Given the description of an element on the screen output the (x, y) to click on. 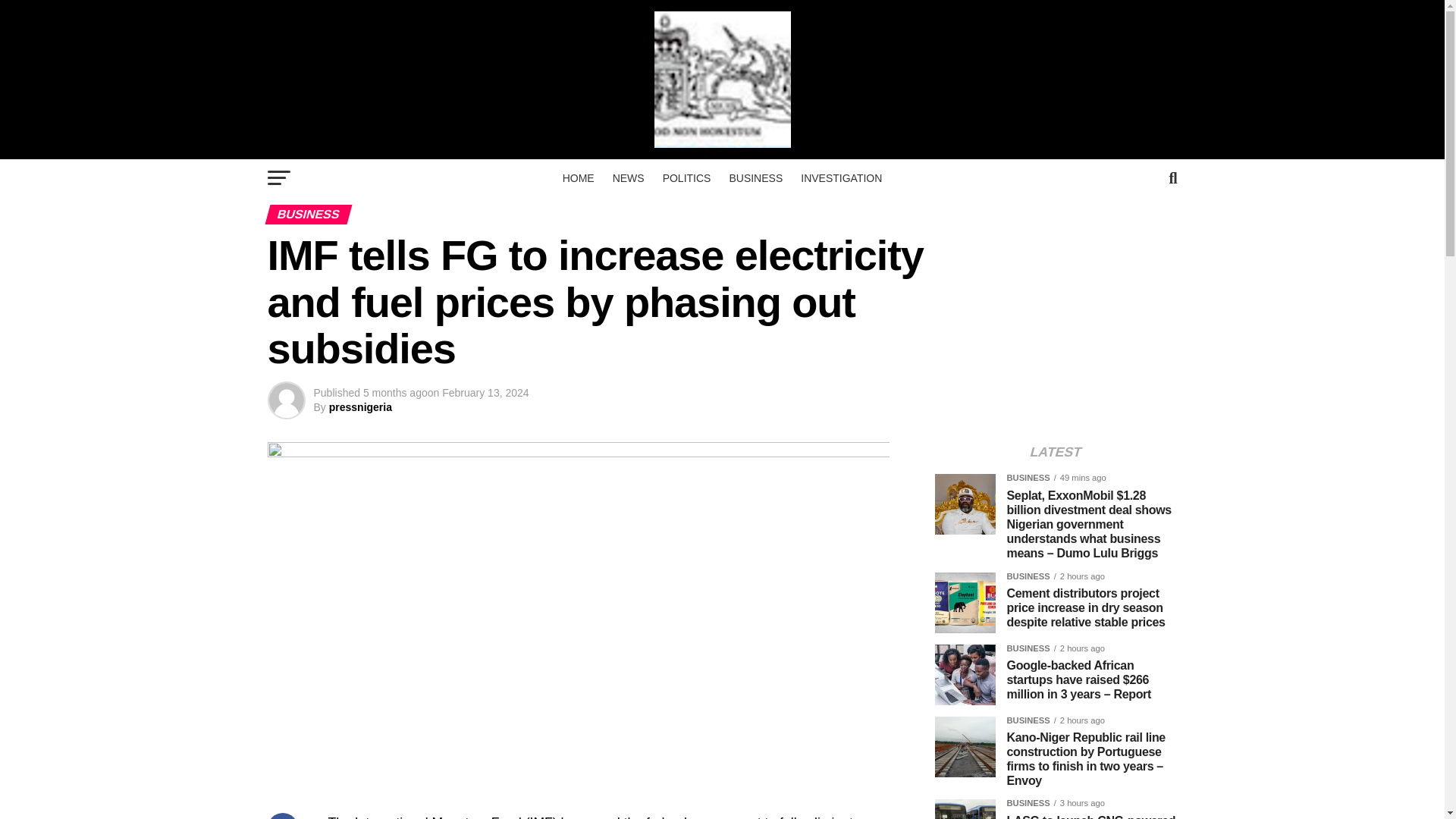
HOME (578, 177)
INVESTIGATION (841, 177)
Posts by pressnigeria (360, 407)
NEWS (628, 177)
POLITICS (686, 177)
BUSINESS (755, 177)
pressnigeria (360, 407)
